Given the description of an element on the screen output the (x, y) to click on. 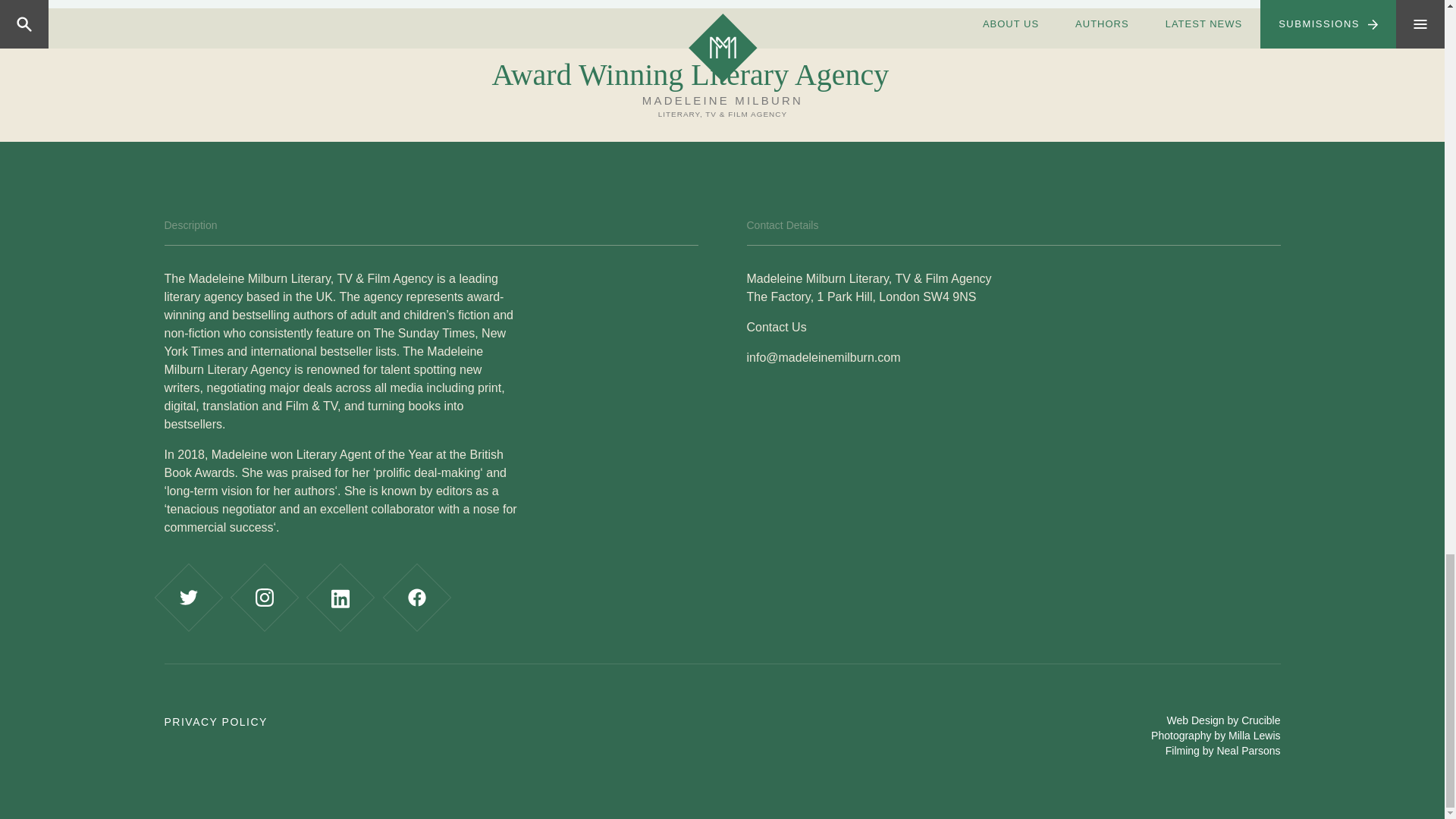
Filming by Neal Parsons (1223, 750)
Photography by Milla Lewis (1215, 735)
Contact Us (775, 327)
PRIVACY POLICY (214, 721)
Web Design by Crucible (1224, 720)
